Given the description of an element on the screen output the (x, y) to click on. 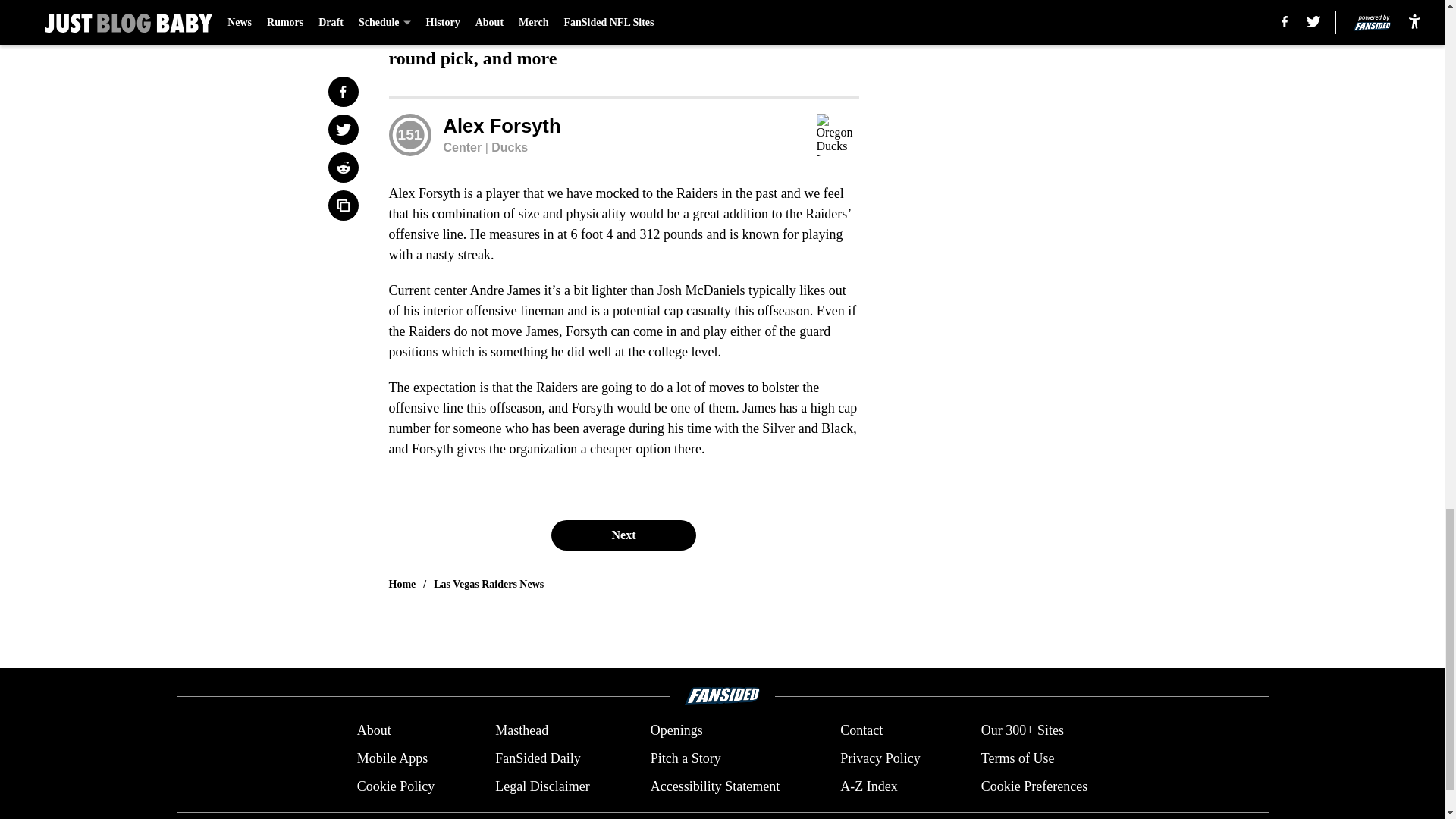
Openings (676, 730)
Cookie Policy (395, 786)
Home (401, 584)
Las Vegas Raiders News (488, 584)
FanSided Daily (537, 758)
Accessibility Statement (714, 786)
Next (622, 535)
Masthead (521, 730)
About (373, 730)
Mobile Apps (392, 758)
Terms of Use (1017, 758)
Contact (861, 730)
Legal Disclaimer (542, 786)
Pitch a Story (685, 758)
Privacy Policy (880, 758)
